Given the description of an element on the screen output the (x, y) to click on. 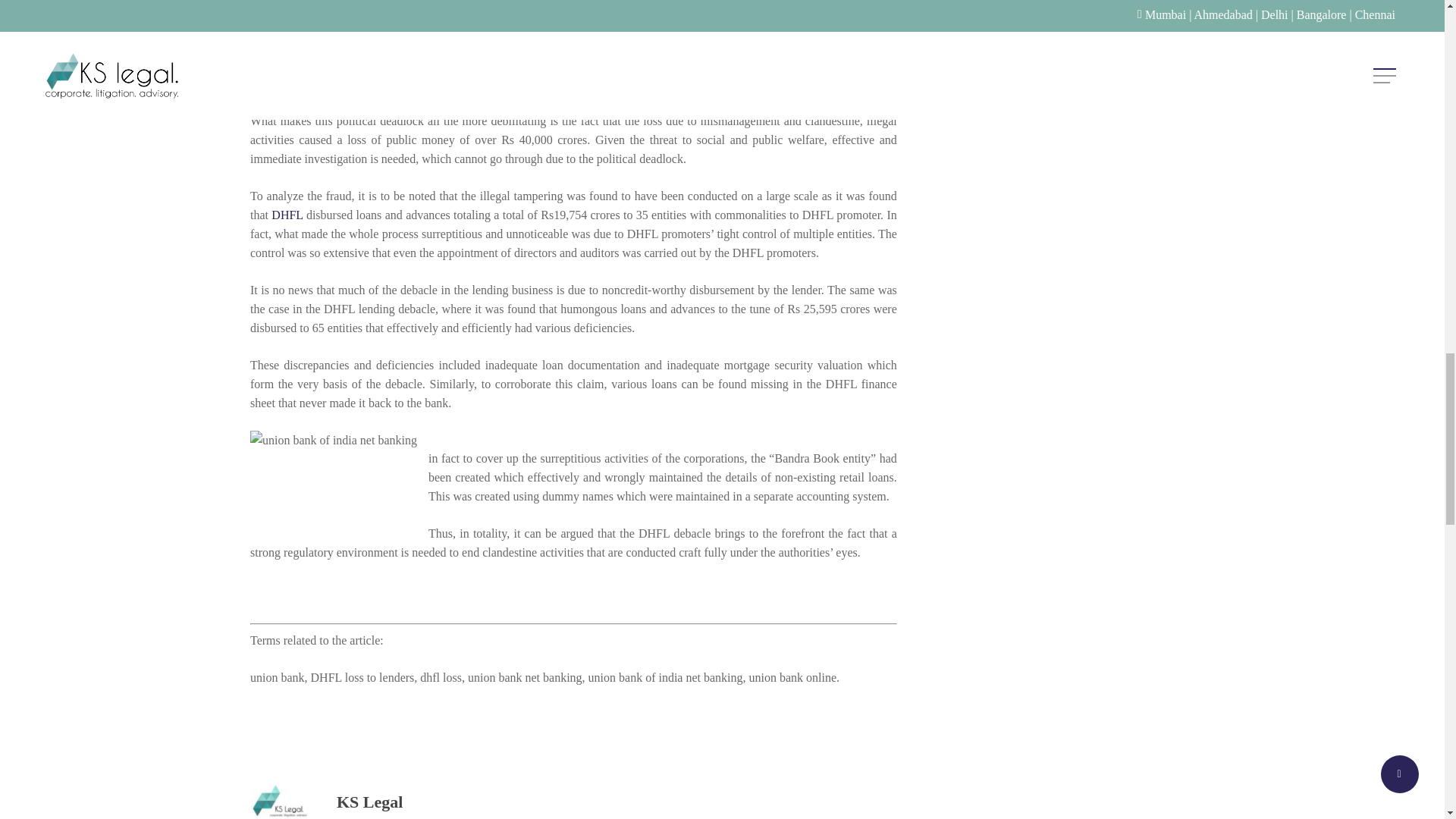
DHFL (286, 214)
KS Legal (369, 801)
